Given the description of an element on the screen output the (x, y) to click on. 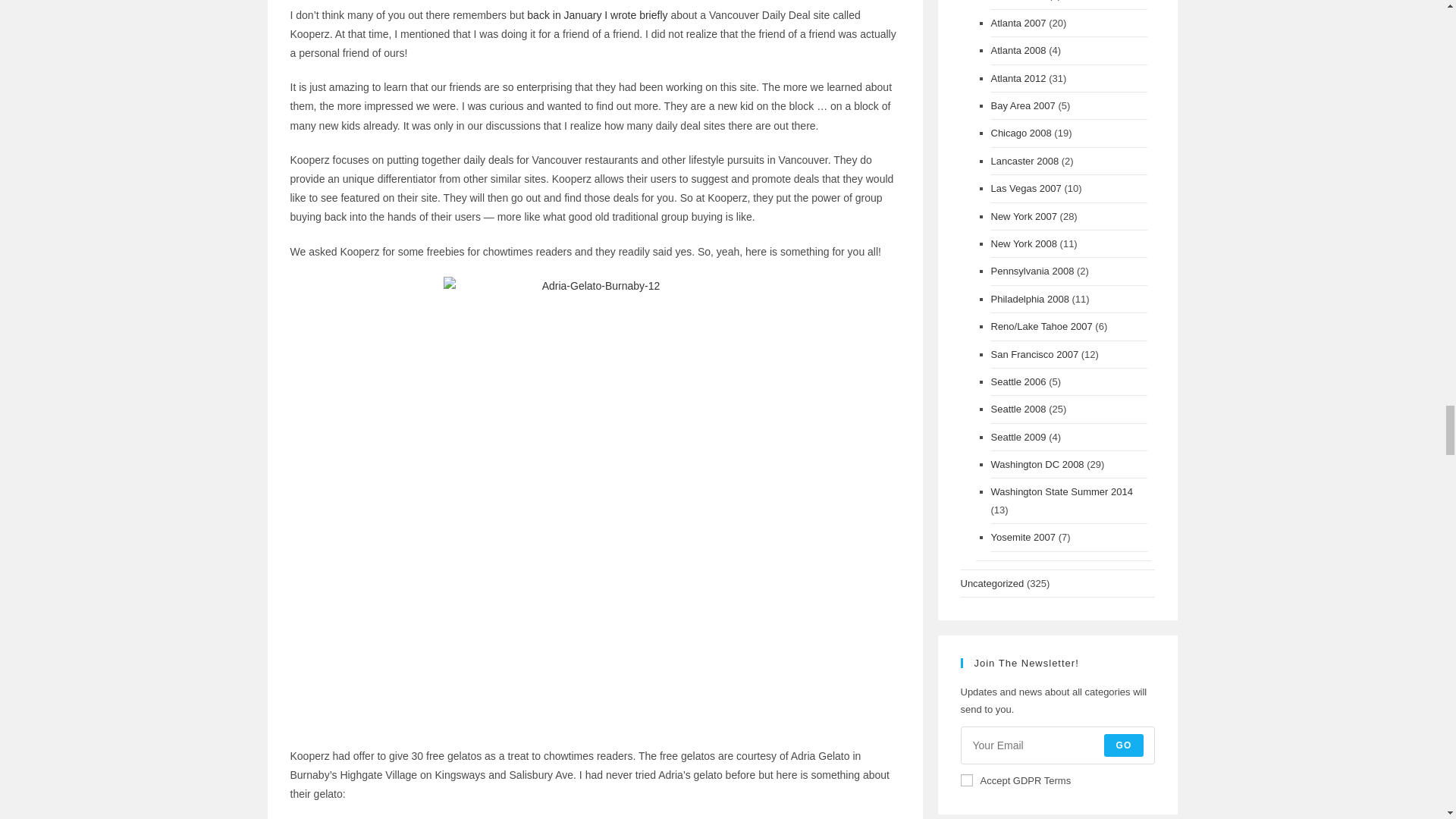
1 (965, 779)
